Given the description of an element on the screen output the (x, y) to click on. 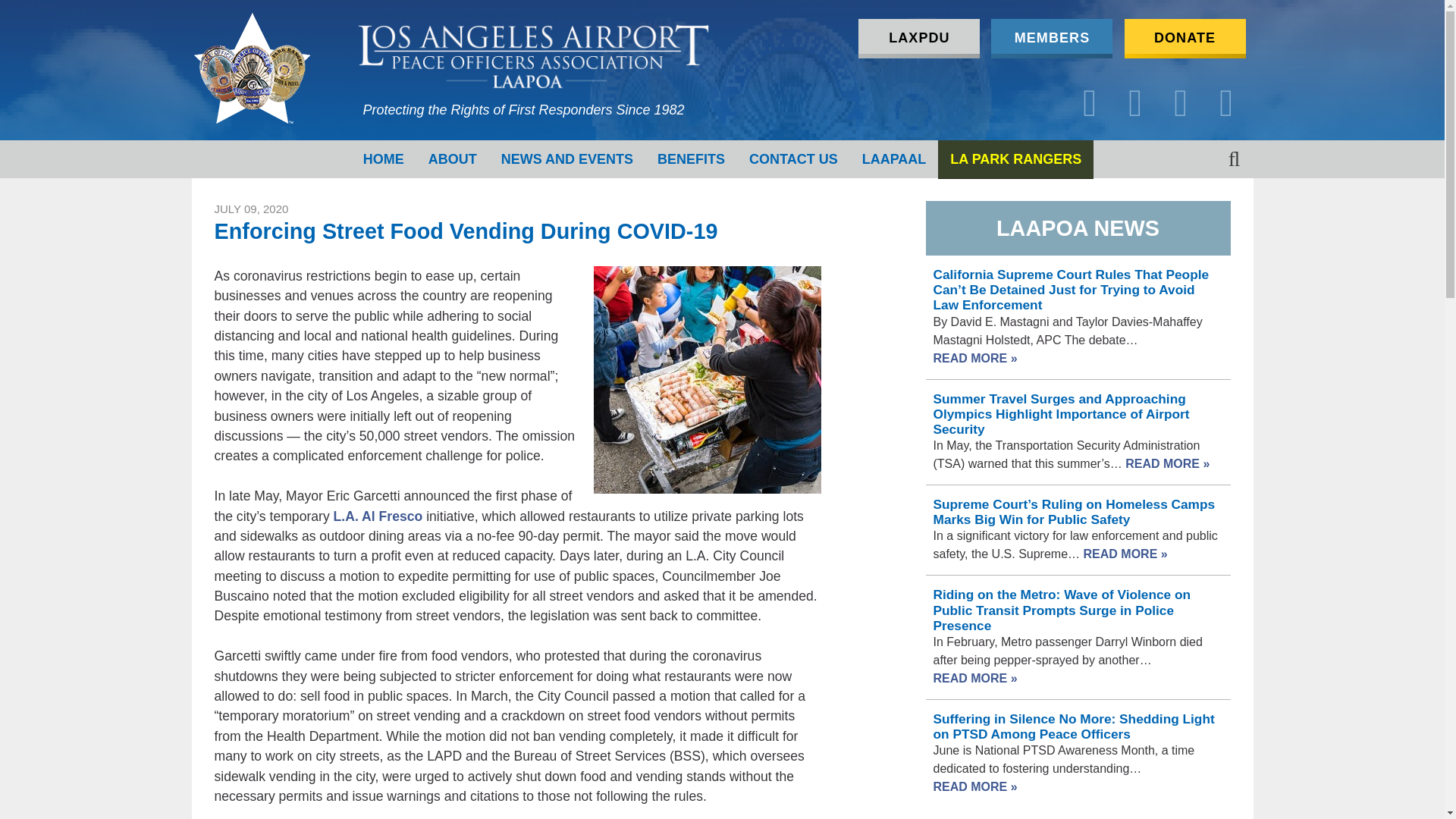
Facebook (1089, 103)
NEWS AND EVENTS (567, 159)
ABOUT (452, 159)
HOME (383, 159)
Instagram (1180, 103)
Twitter (1135, 103)
LAAPAAL (894, 159)
CONTACT US (793, 159)
LAXPDU (919, 38)
MEMBERS (1051, 38)
